Given the description of an element on the screen output the (x, y) to click on. 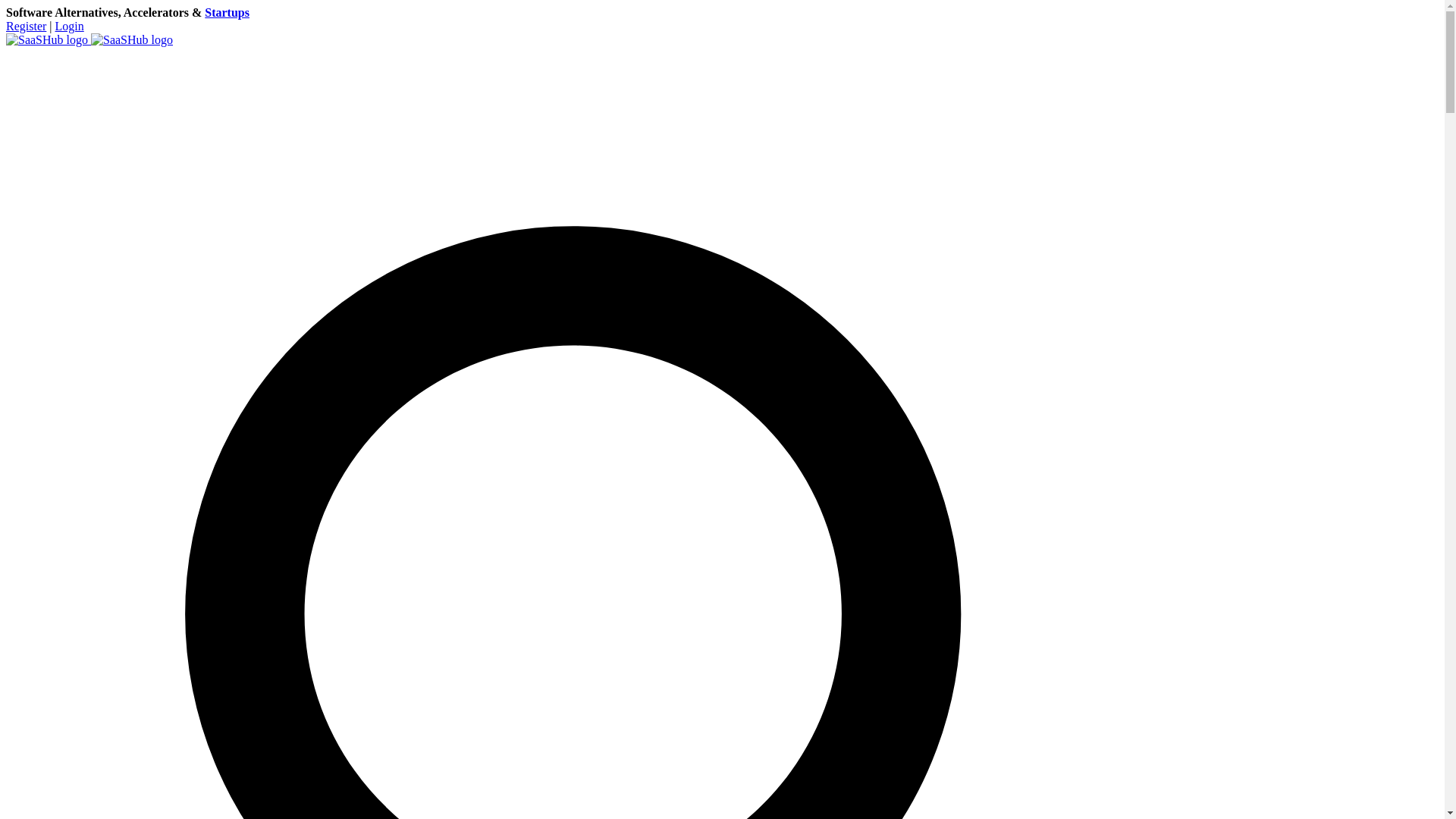
Register (25, 25)
Startups (226, 11)
Login (69, 25)
